Given the description of an element on the screen output the (x, y) to click on. 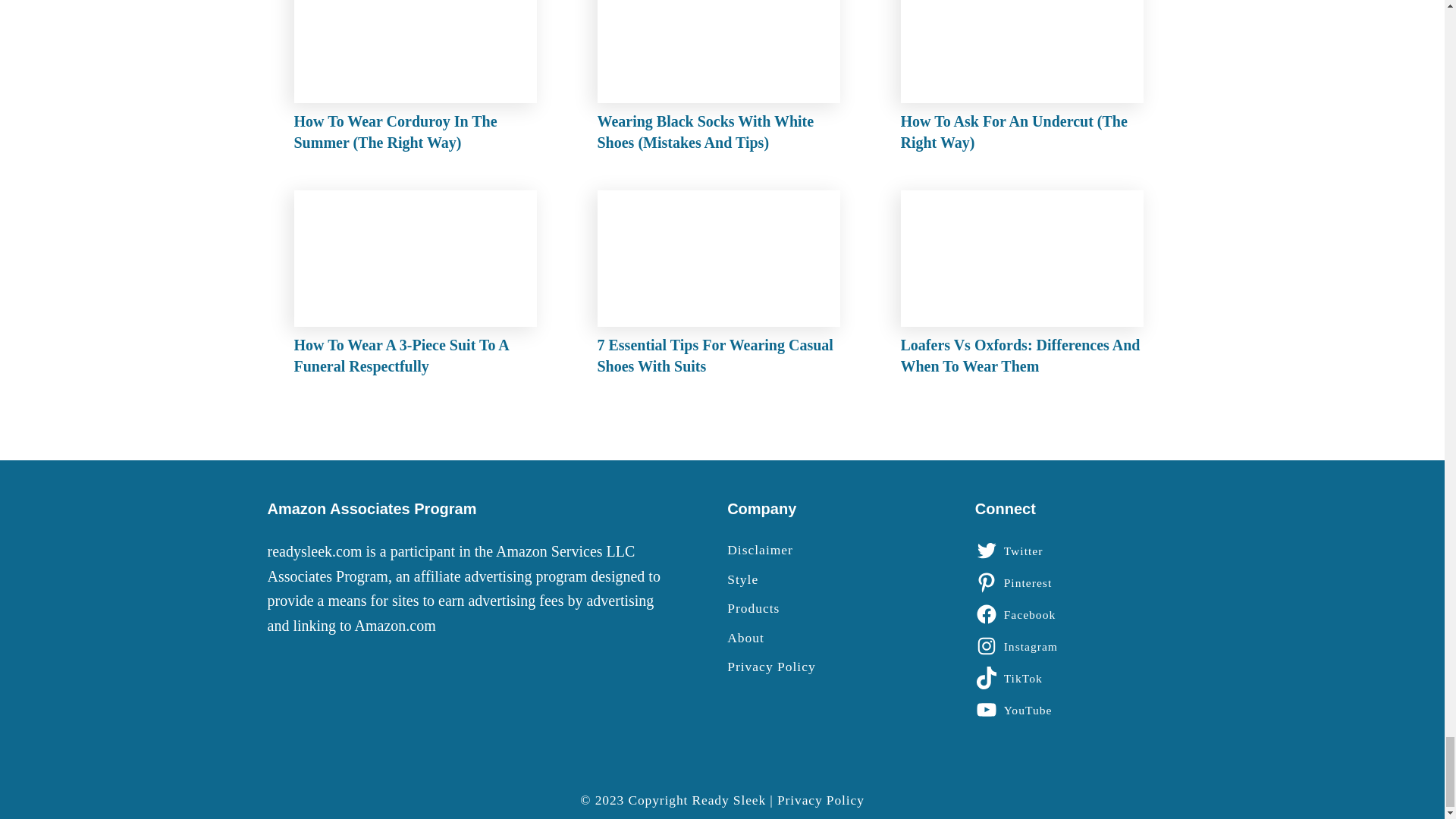
Privacy Policy (820, 666)
Style (820, 578)
Disclaimer (820, 549)
7 Essential Tips For Wearing Casual Shoes With Suits (721, 287)
How To Wear A 3-Piece Suit To A Funeral Respectfully (419, 287)
Twitter (1011, 549)
How To Wear A 3-Piece Suit To A Funeral Respectfully (419, 287)
Products (820, 608)
Loafers Vs Oxfords: Differences And When To Wear Them (1026, 287)
About (820, 637)
Loafers Vs Oxfords: Differences And When To Wear Them (1026, 287)
7 Essential Tips For Wearing Casual Shoes With Suits (721, 287)
